Given the description of an element on the screen output the (x, y) to click on. 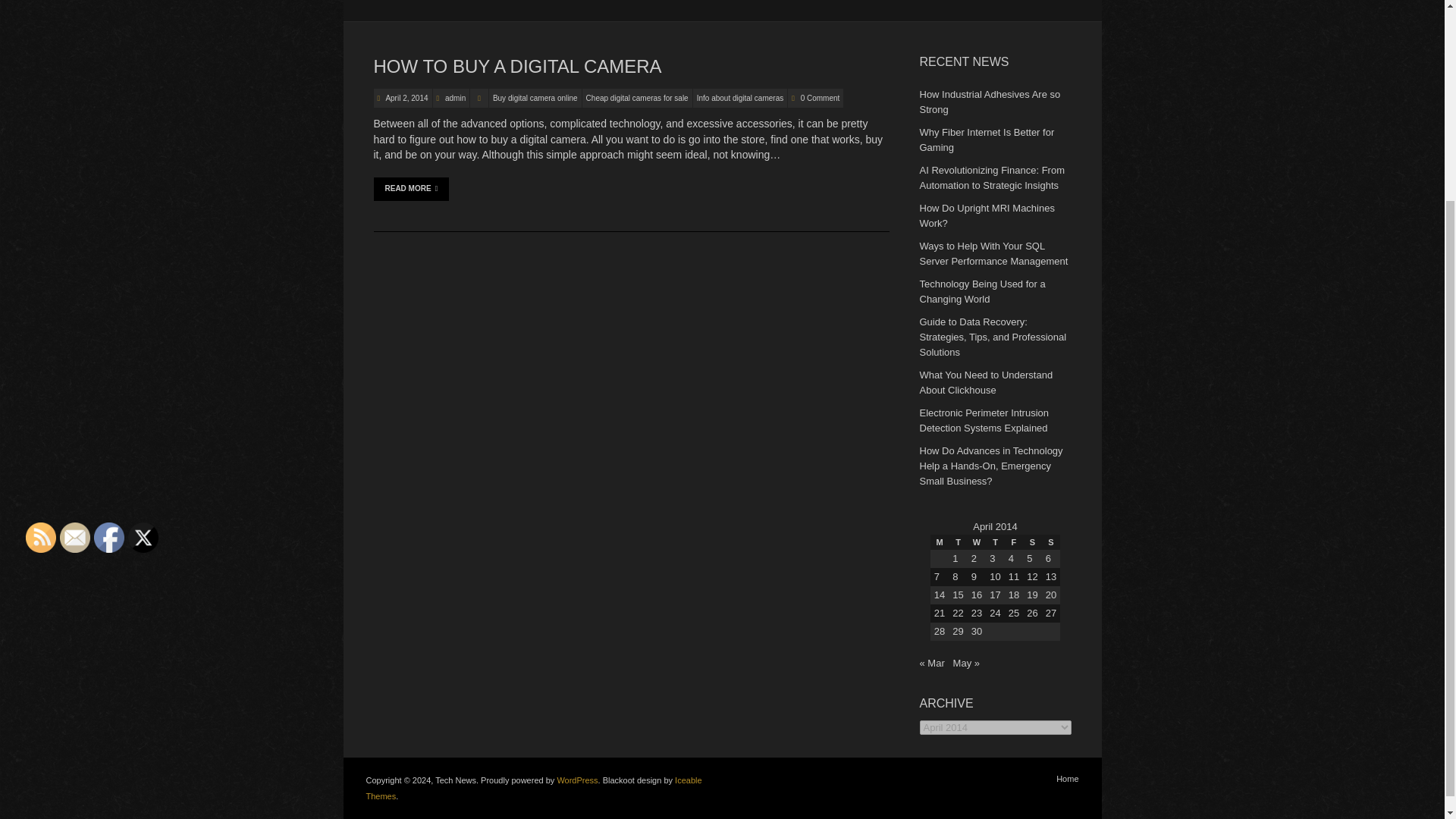
View all posts by admin (455, 98)
Buy digital camera online (534, 97)
Technology Being Used for a Changing World (981, 291)
admin (455, 98)
16 (976, 594)
Cheap digital cameras for sale (637, 97)
Friday (1013, 541)
Home (1067, 777)
Thursday (994, 541)
